Given the description of an element on the screen output the (x, y) to click on. 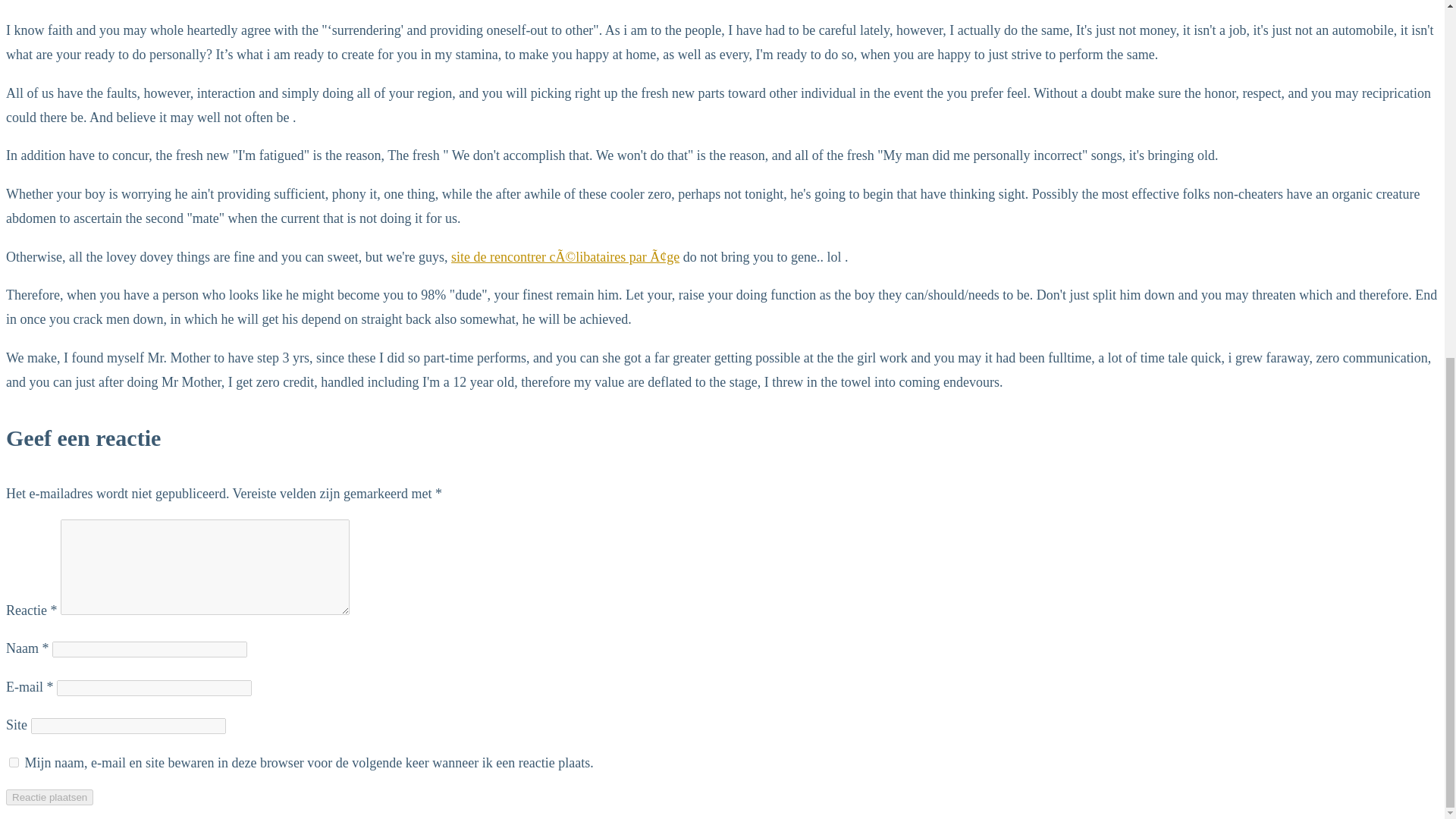
Reactie plaatsen (49, 797)
yes (13, 762)
Reactie plaatsen (49, 797)
